Given the description of an element on the screen output the (x, y) to click on. 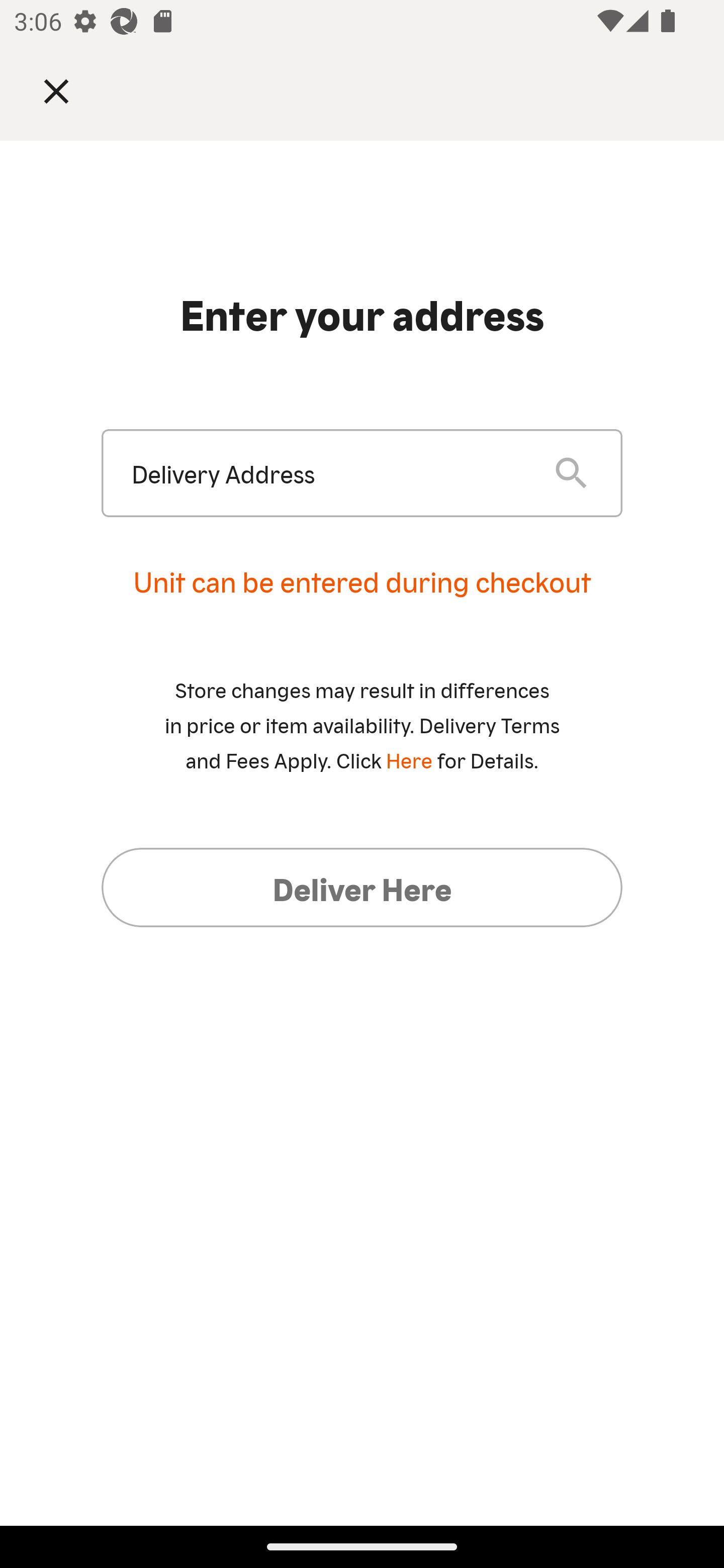
 (70, 90)
Delivery Address (326, 473)
Deliver Here (361, 887)
